Given the description of an element on the screen output the (x, y) to click on. 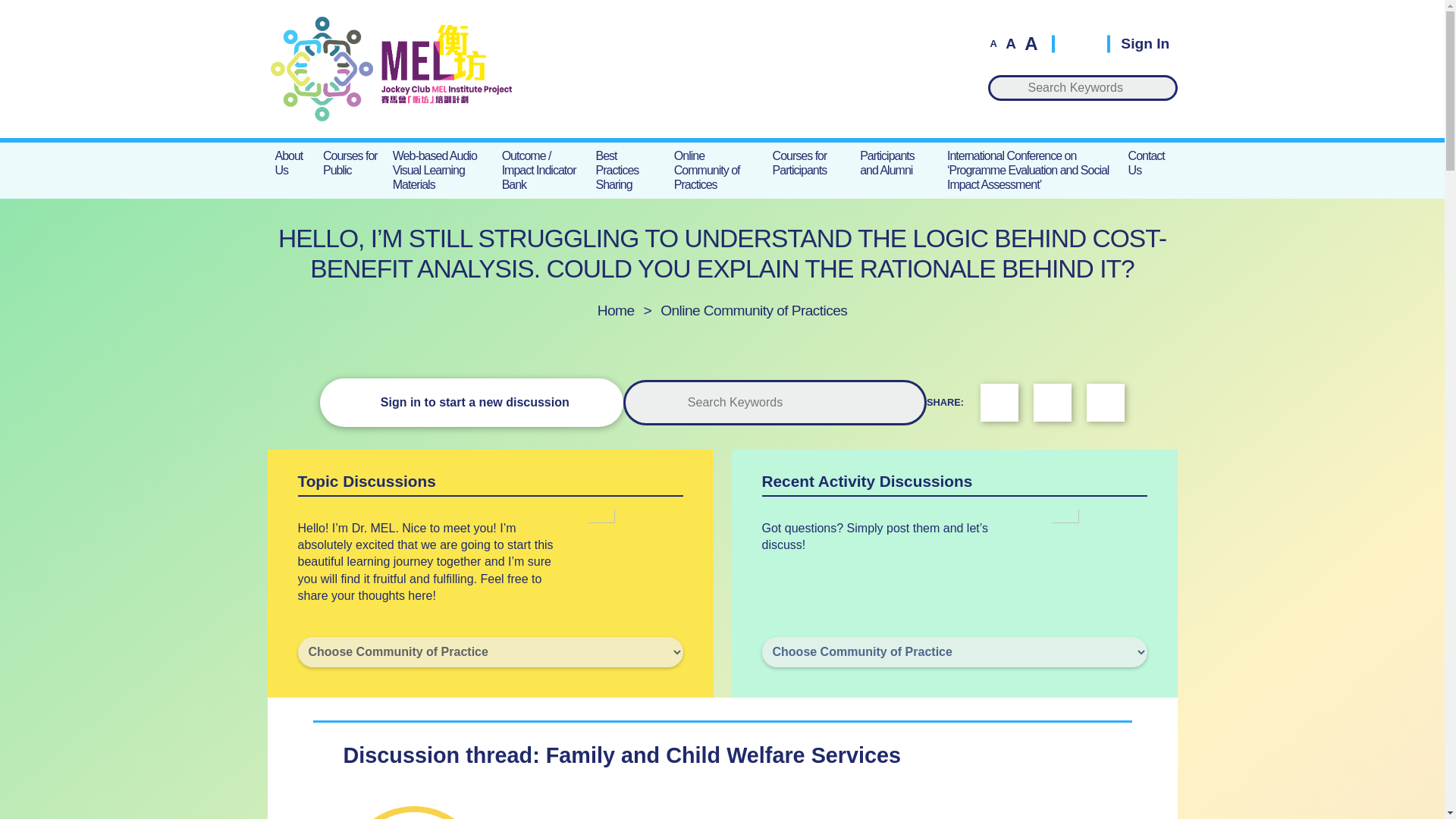
Courses for Public (350, 162)
Participants and Alumni (895, 162)
Online Community of Practices (754, 310)
About Us (290, 162)
Courses for Participants (809, 162)
Web-based Audio Visual Learning Materials (440, 170)
A (1030, 44)
Online Community of Practices (715, 170)
A (992, 43)
Sign In (1137, 43)
